Given the description of an element on the screen output the (x, y) to click on. 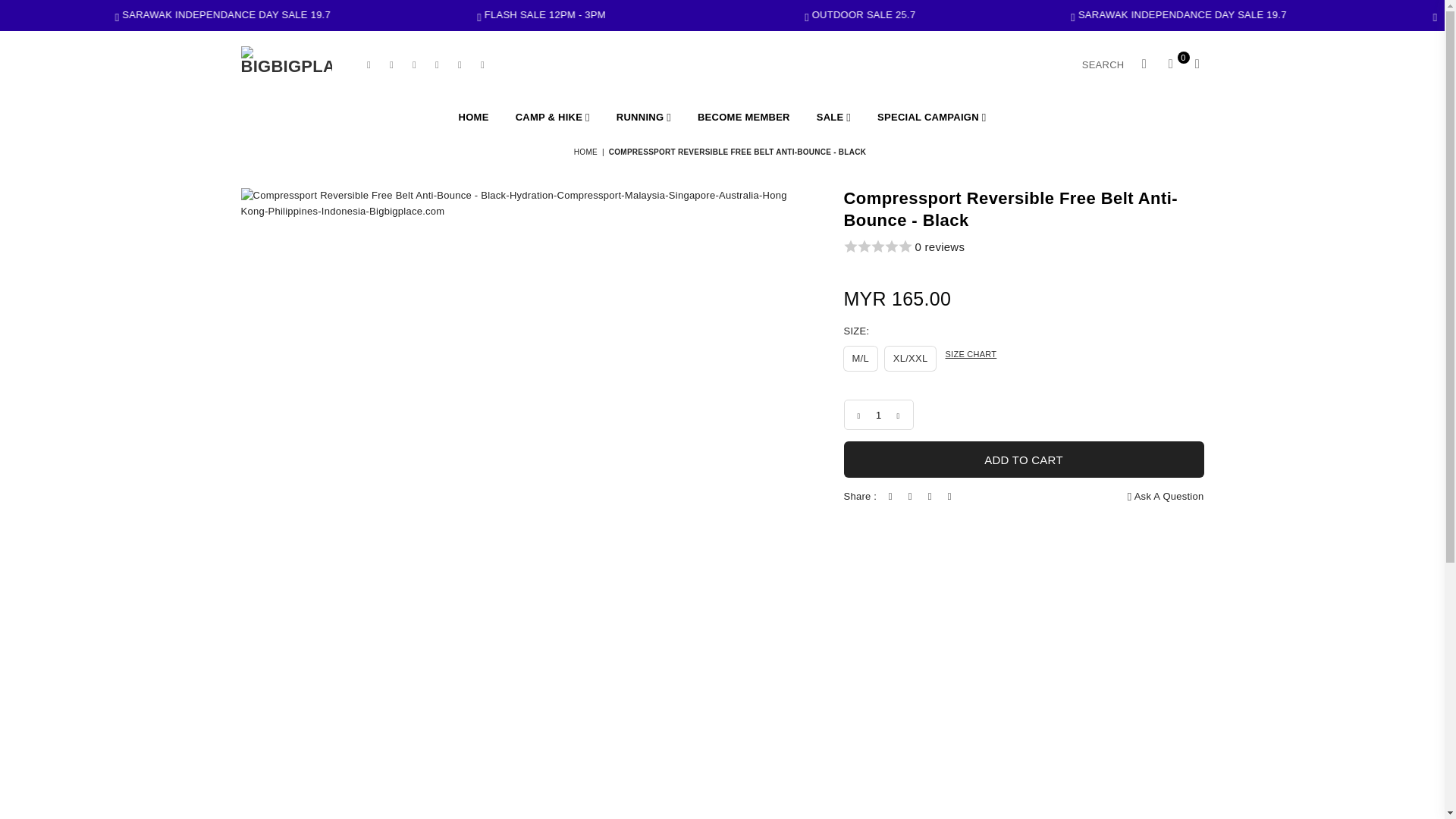
Share on Facebook (889, 496)
Share by Email (949, 496)
Bigbigplace.com on Facebook (369, 64)
OUTDOOR SALE 25.7 (1114, 14)
Twitter (391, 64)
Instagram (414, 64)
Bigbigplace.com on TikTok (459, 64)
Bigbigplace.com on Twitter (391, 64)
OUTDOOR SALE 25.7 (161, 14)
Bigbigplace.com on Instagram (414, 64)
Logout (1144, 65)
HOME (473, 118)
CART (1170, 65)
YouTube (437, 64)
Pin on Pinterest (929, 496)
